Given the description of an element on the screen output the (x, y) to click on. 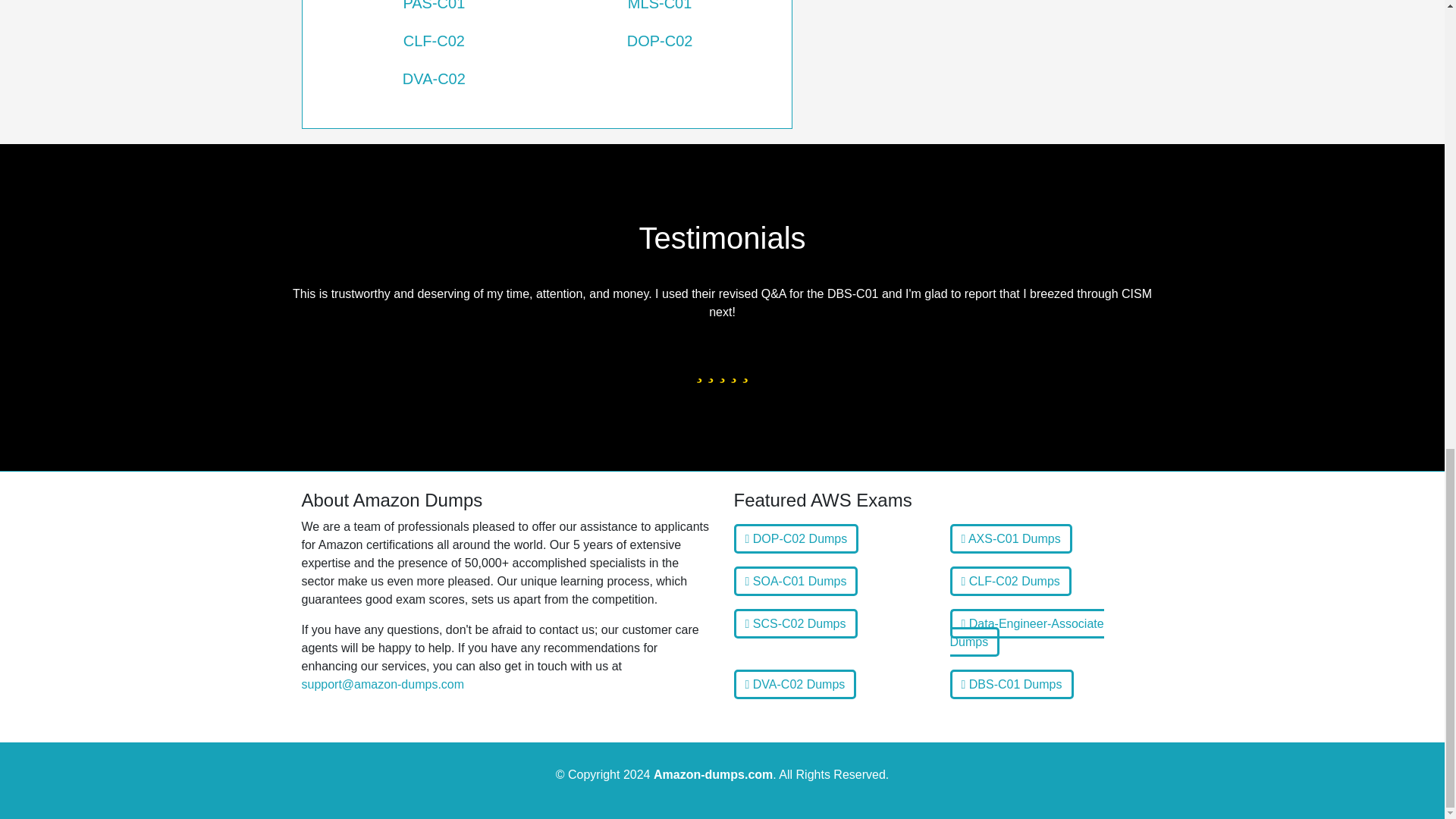
DVA-C02 (433, 78)
MLS-C01 (659, 11)
CLF-C02 Dumps (1009, 581)
DBS-C01 Dumps (1011, 684)
PAS-C01 (433, 11)
CLF-C02 (433, 40)
Data-Engineer-Associate Dumps (1026, 632)
SOA-C01 Dumps (796, 581)
SCS-C02 Dumps (795, 623)
DOP-C02 (659, 40)
